Given the description of an element on the screen output the (x, y) to click on. 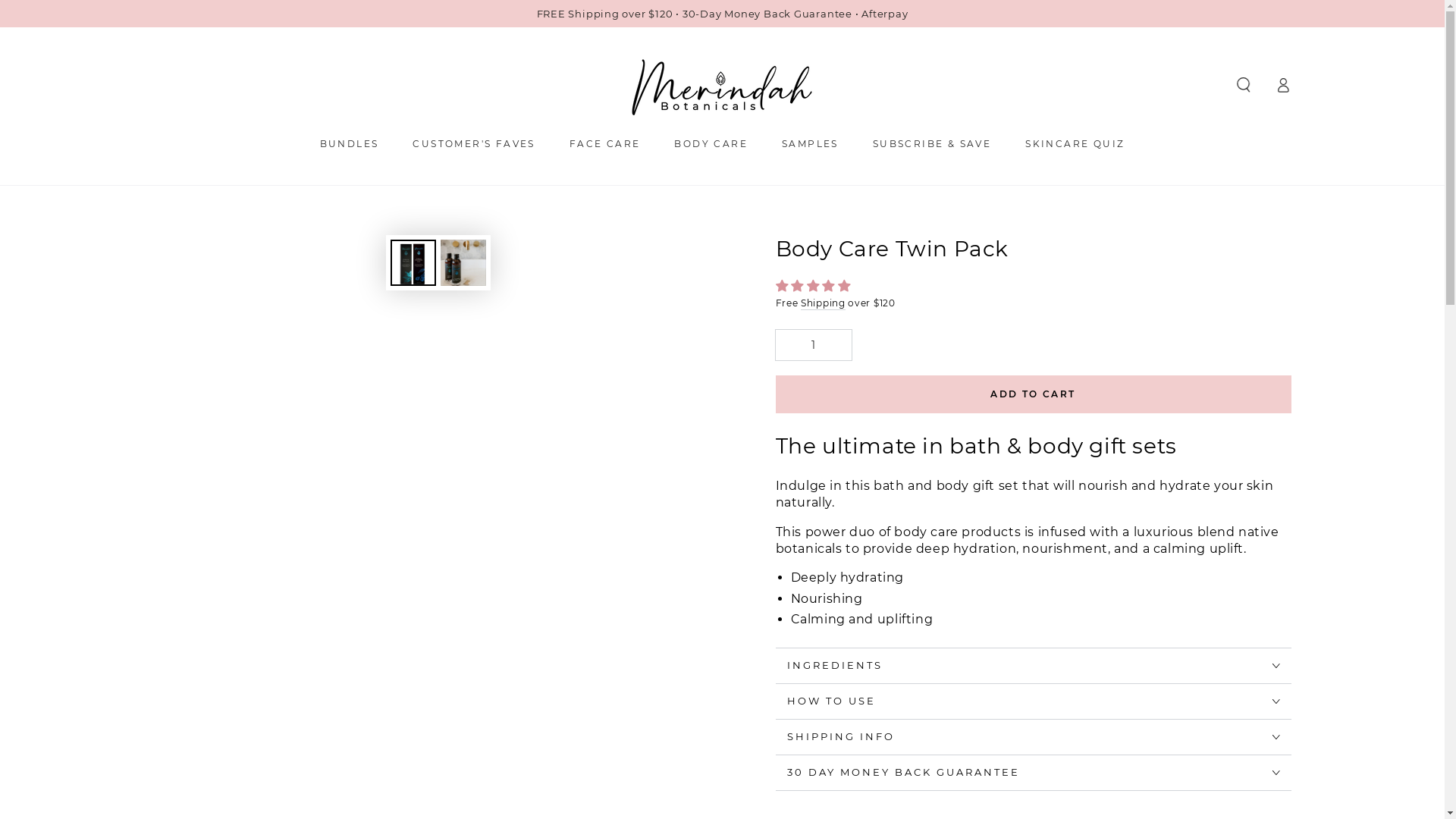
ADD TO CART Element type: text (1032, 394)
BODY CARE Element type: text (710, 142)
Shipping Element type: text (822, 303)
CUSTOMER'S FAVES Element type: text (473, 142)
FACE CARE Element type: text (605, 142)
SAMPLES Element type: text (810, 142)
SKINCARE QUIZ Element type: text (1074, 142)
SUBSCRIBE & SAVE Element type: text (931, 142)
BUNDLES Element type: text (349, 142)
Log in Element type: text (1282, 84)
